Given the description of an element on the screen output the (x, y) to click on. 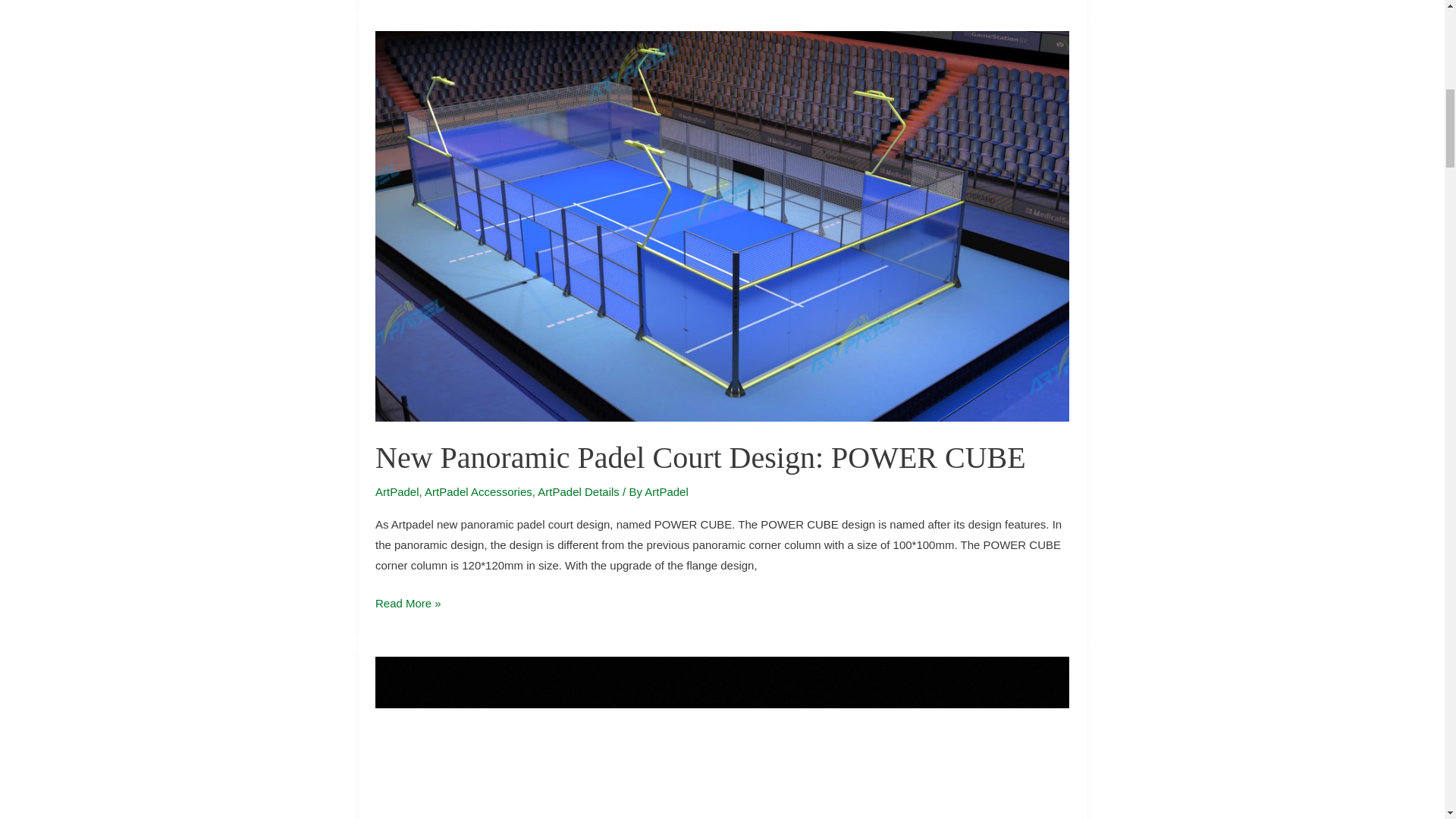
View all posts by ArtPadel (666, 491)
